Given the description of an element on the screen output the (x, y) to click on. 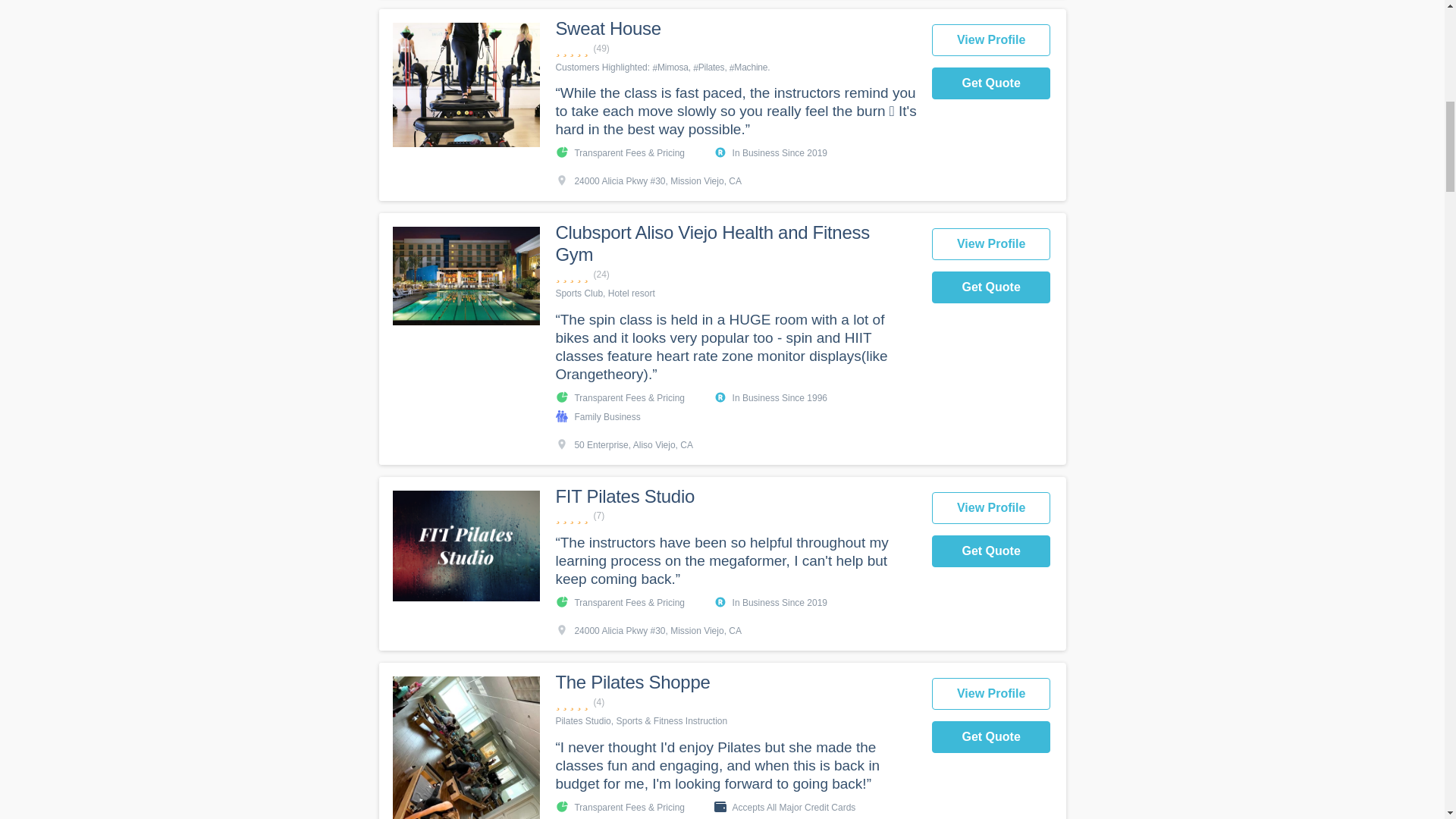
4.9 (734, 48)
Get Quote (991, 287)
Get Quote (991, 83)
4.7 (734, 274)
Get Quote (991, 551)
5.0 (734, 702)
4.9 (734, 515)
